Given the description of an element on the screen output the (x, y) to click on. 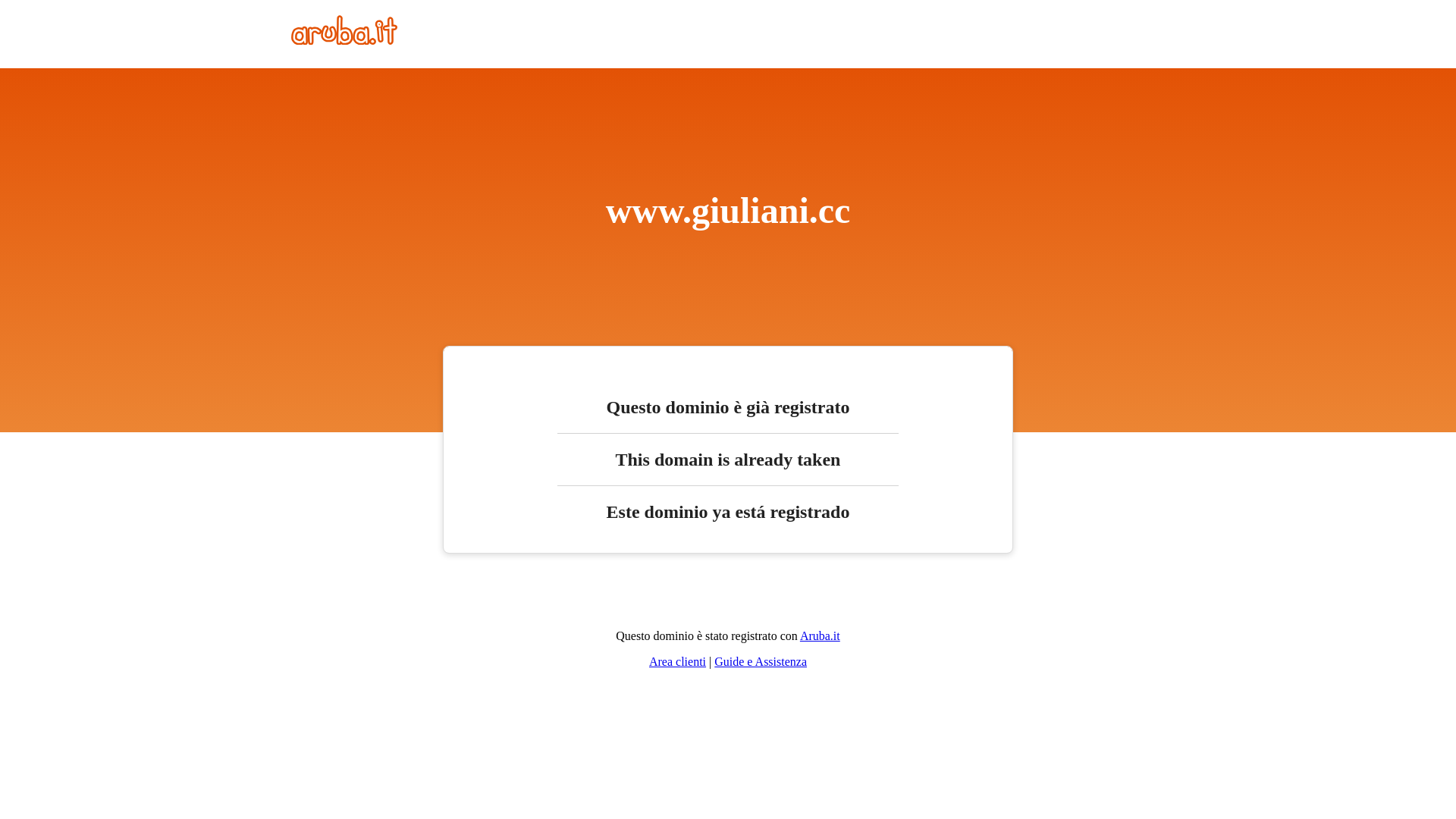
Area clienti Element type: text (677, 661)
Guide e Assistenza Element type: text (760, 661)
Aruba.it Element type: text (820, 635)
Home Element type: hover (344, 40)
